Given the description of an element on the screen output the (x, y) to click on. 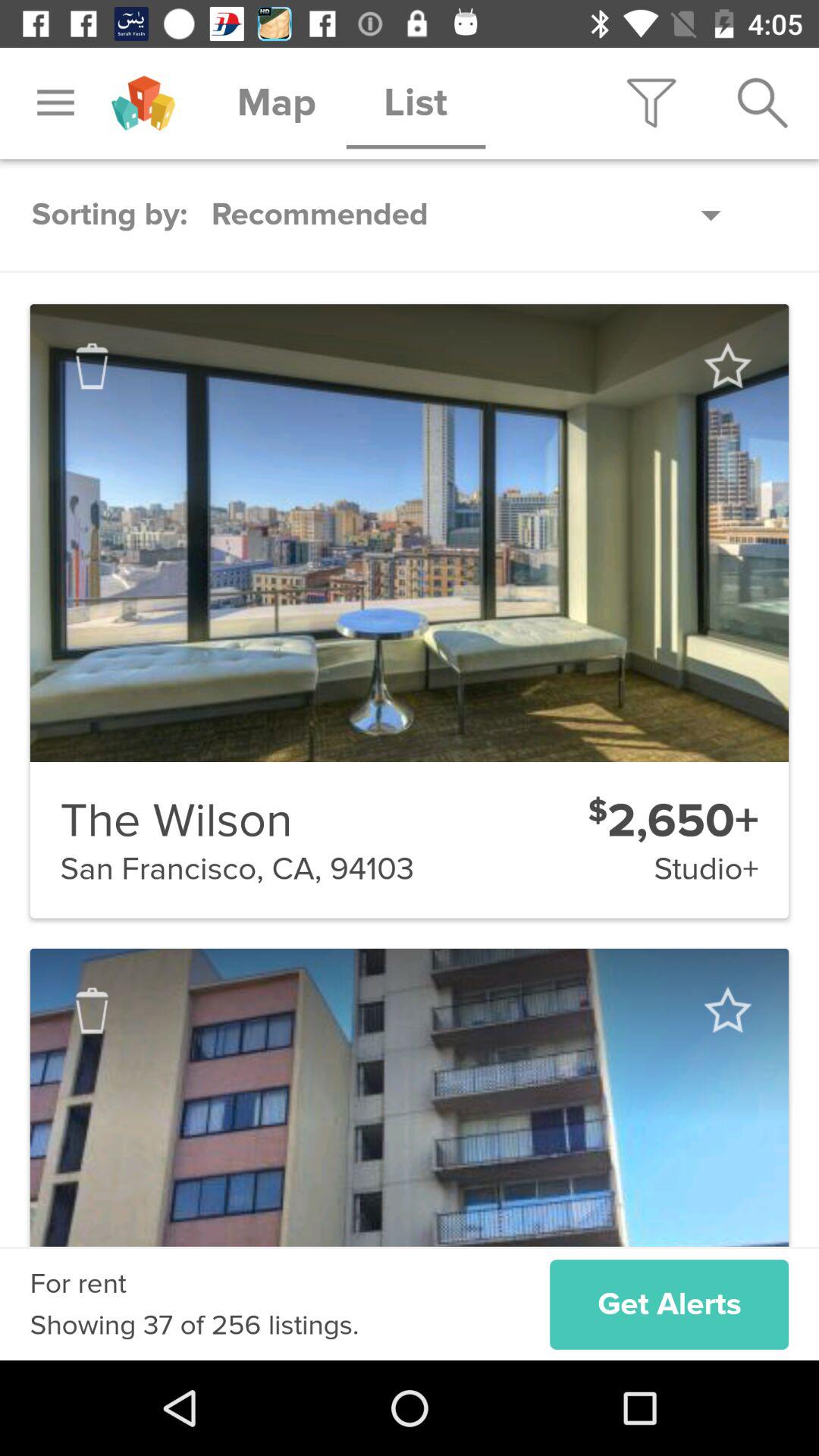
trash item (92, 366)
